Given the description of an element on the screen output the (x, y) to click on. 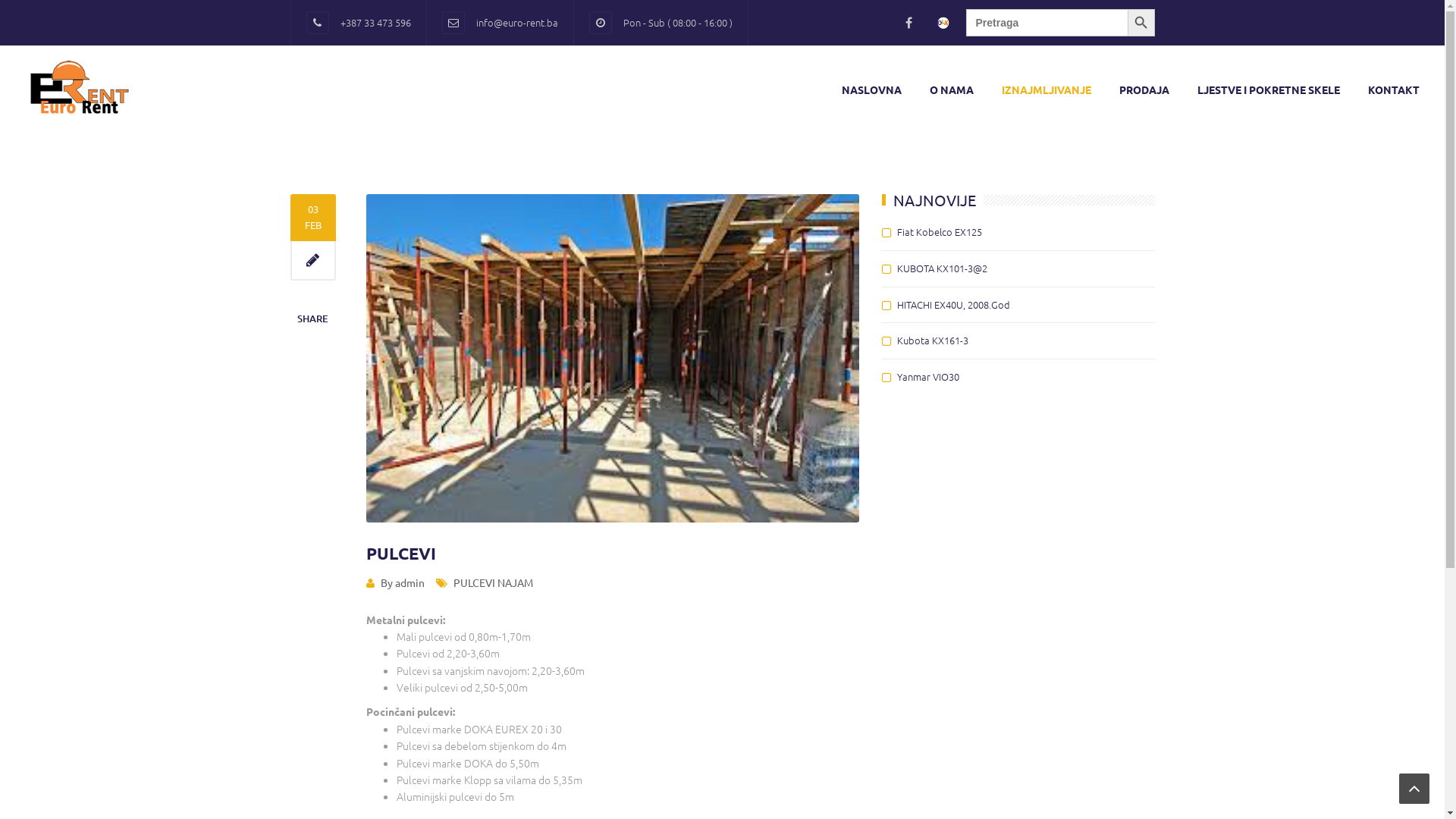
PULCEVI NAJAM Element type: text (493, 582)
PULCEVI Element type: text (400, 552)
NASLOVNA Element type: text (871, 89)
HITACHI EX40U, 2008.God Element type: text (952, 304)
O NAMA Element type: text (951, 89)
Fiat Kobelco EX125 Element type: text (938, 231)
/ eurorentdoo Element type: text (912, 22)
eurorentsa.olx.ba Element type: text (942, 22)
admin Element type: text (408, 582)
KUBOTA KX101-3@2 Element type: text (941, 267)
Yanmar VIO30 Element type: text (927, 376)
Search Button Element type: text (1140, 22)
IZNAJMLJIVANJE Element type: text (1046, 89)
Kubota KX161-3 Element type: text (931, 339)
KONTAKT Element type: text (1393, 89)
PRODAJA Element type: text (1144, 89)
LJESTVE I POKRETNE SKELE Element type: text (1268, 89)
